Given the description of an element on the screen output the (x, y) to click on. 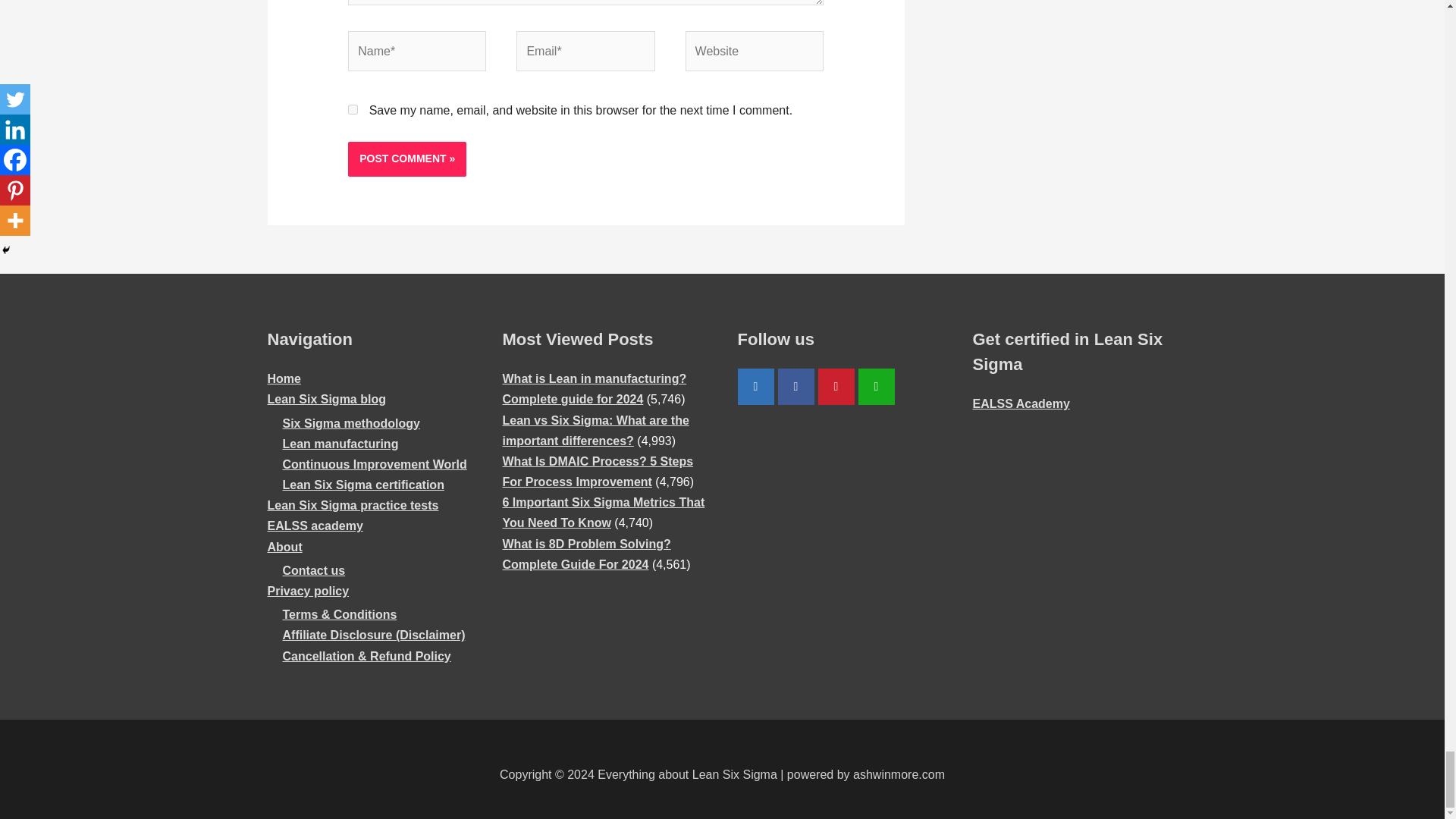
yes (352, 109)
